Given the description of an element on the screen output the (x, y) to click on. 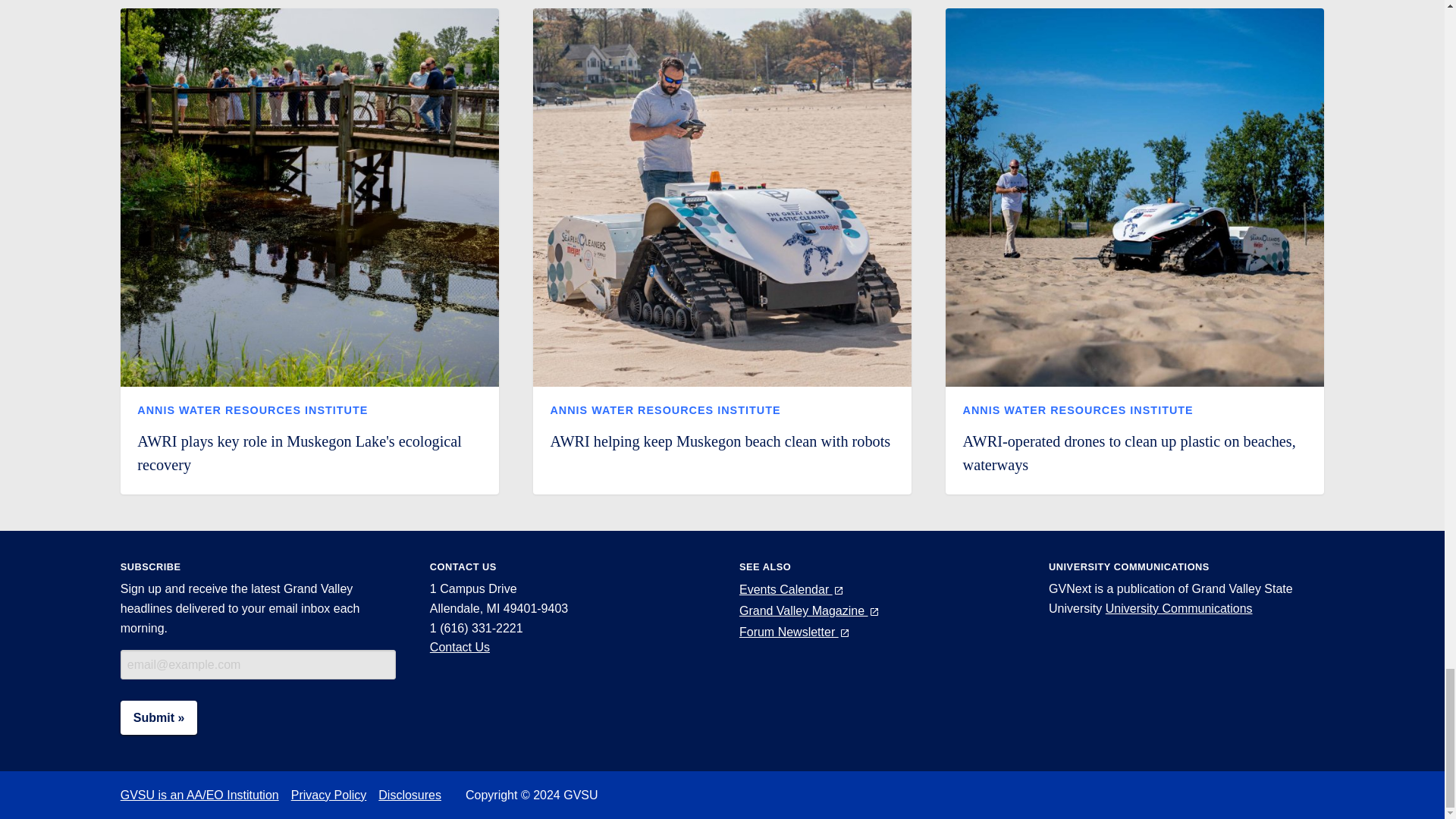
Privacy Policy (334, 794)
Contact Us (459, 646)
ANNIS WATER RESOURCES INSTITUTE (1077, 410)
ANNIS WATER RESOURCES INSTITUTE (252, 410)
Forum Newsletter (794, 631)
Events Calendar (791, 589)
ANNIS WATER RESOURCES INSTITUTE (665, 410)
Grand Valley Magazine (809, 610)
University Communications (1178, 608)
